Given the description of an element on the screen output the (x, y) to click on. 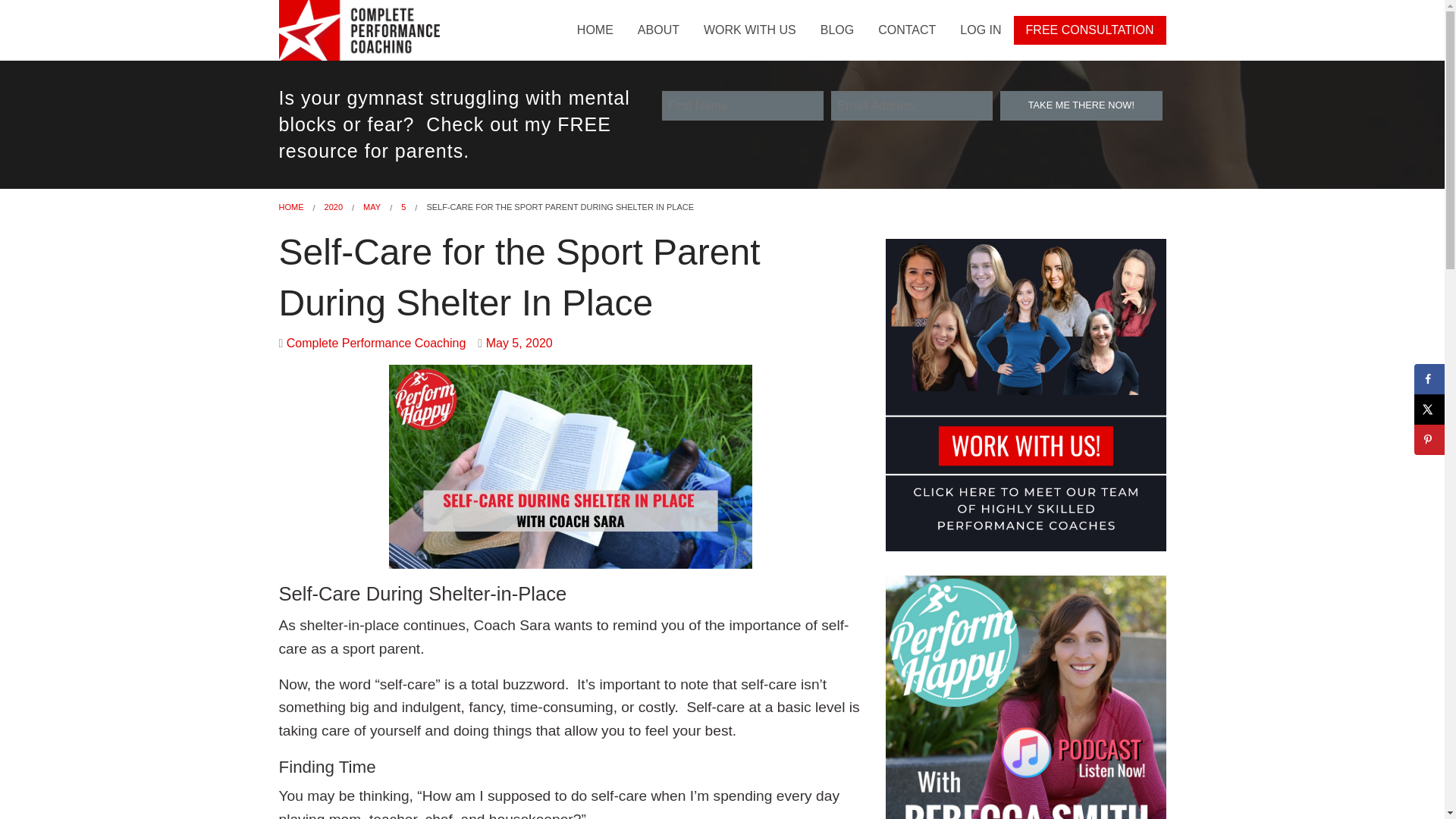
Complete Performance Coaching (364, 29)
2020 (333, 206)
May 5, 2020 (519, 342)
View all posts from May 2020 (519, 342)
Complete Performance Coaching (375, 342)
Take me there now! (1080, 105)
MAY (371, 206)
LOG IN (980, 30)
View all posts by Complete Performance Coaching (375, 342)
Take me there now! (1080, 105)
ABOUT (658, 30)
CONTACT (906, 30)
WORK WITH US (749, 30)
HOME (291, 206)
FREE CONSULTATION (1089, 30)
